Given the description of an element on the screen output the (x, y) to click on. 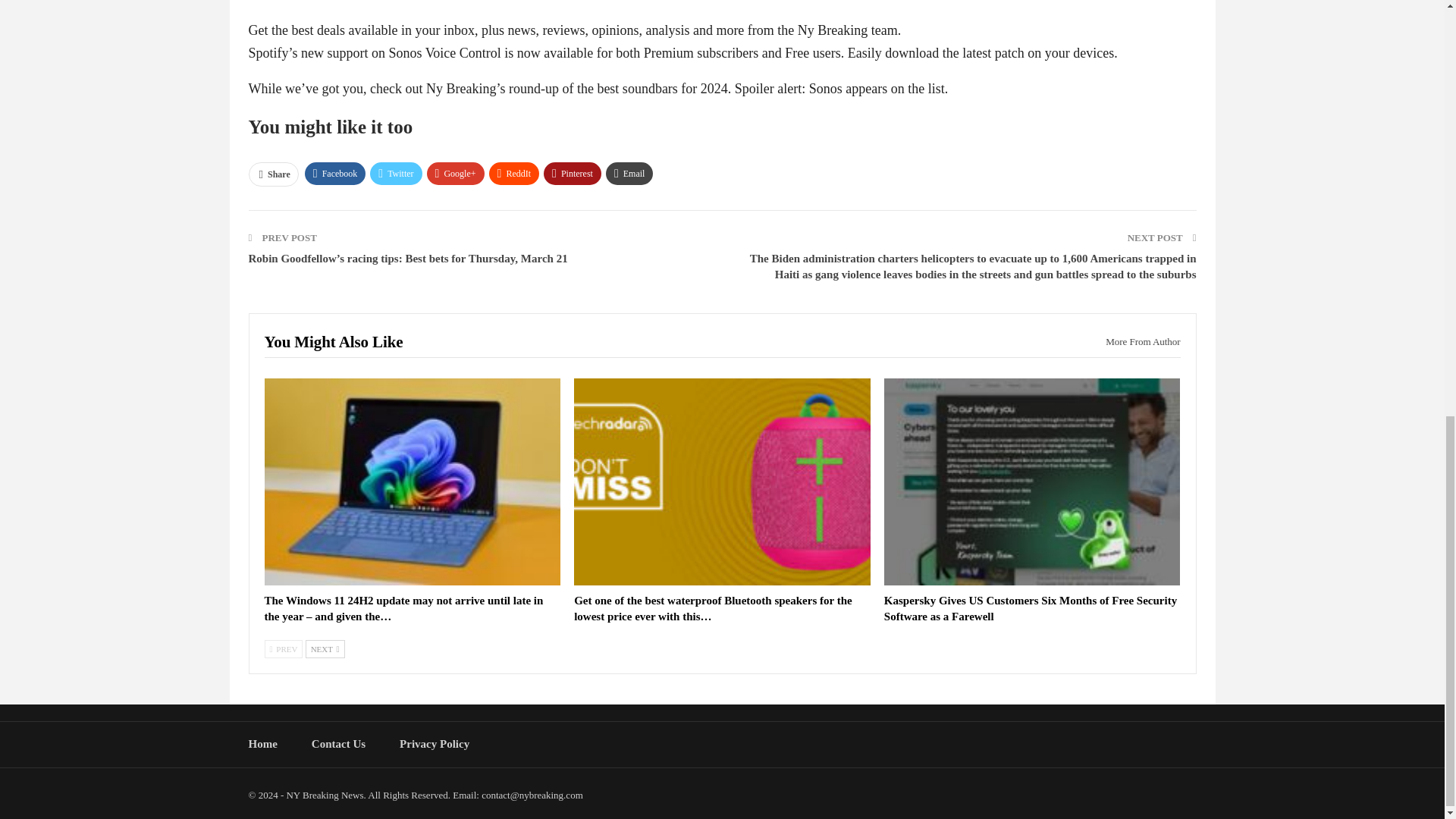
Twitter (395, 173)
Next (325, 648)
Previous (282, 648)
Email (629, 173)
Facebook (335, 173)
ReddIt (514, 173)
Pinterest (572, 173)
